Given the description of an element on the screen output the (x, y) to click on. 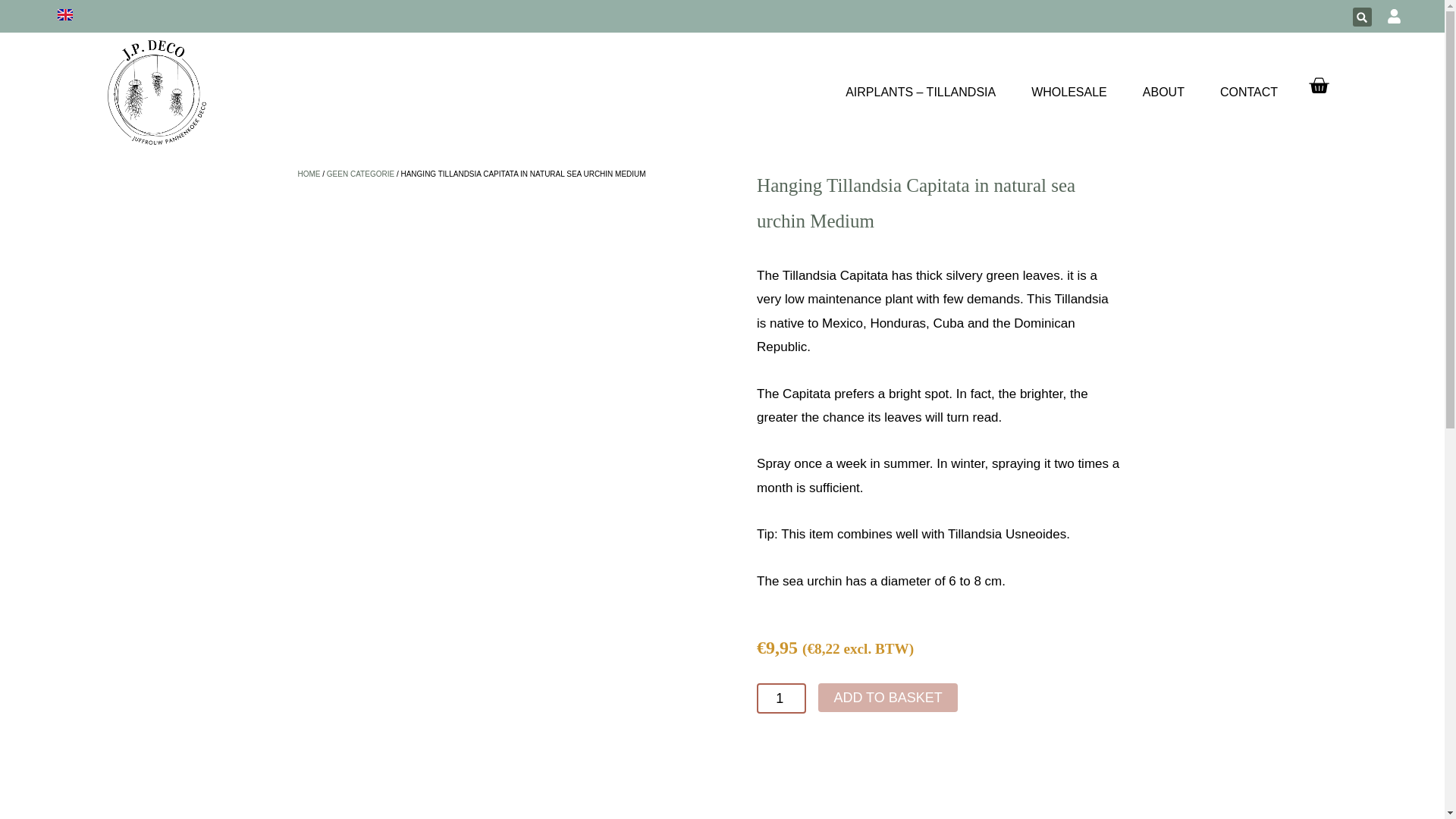
CONTACT (1249, 92)
1 (781, 698)
HOME (308, 173)
GEEN CATEGORIE (360, 173)
ADD TO BASKET (887, 697)
ABOUT (1163, 92)
WHOLESALE (1068, 92)
